Given the description of an element on the screen output the (x, y) to click on. 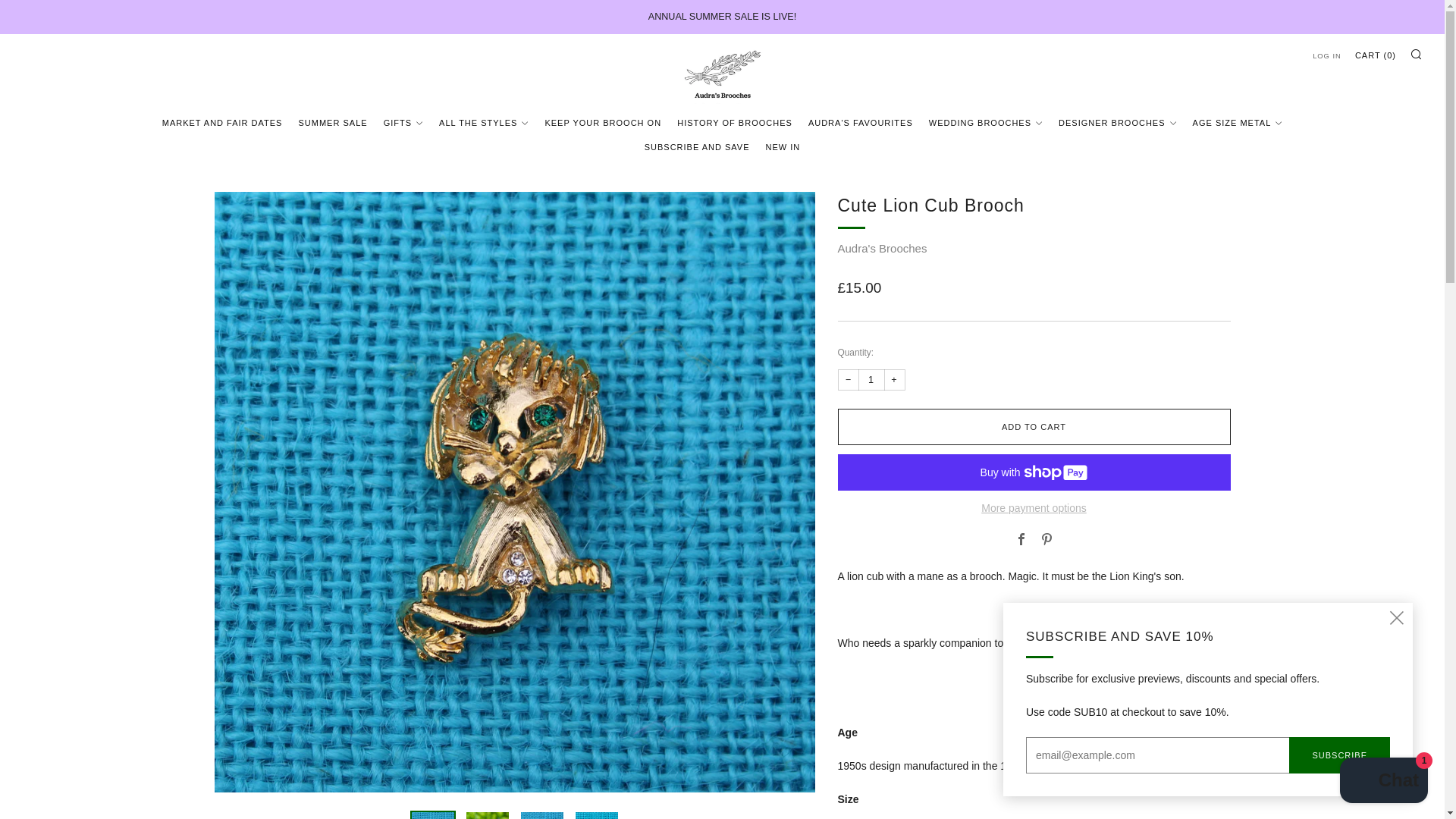
Audra's Brooches (881, 247)
1 (872, 379)
Shopify online store chat (1383, 781)
